Given the description of an element on the screen output the (x, y) to click on. 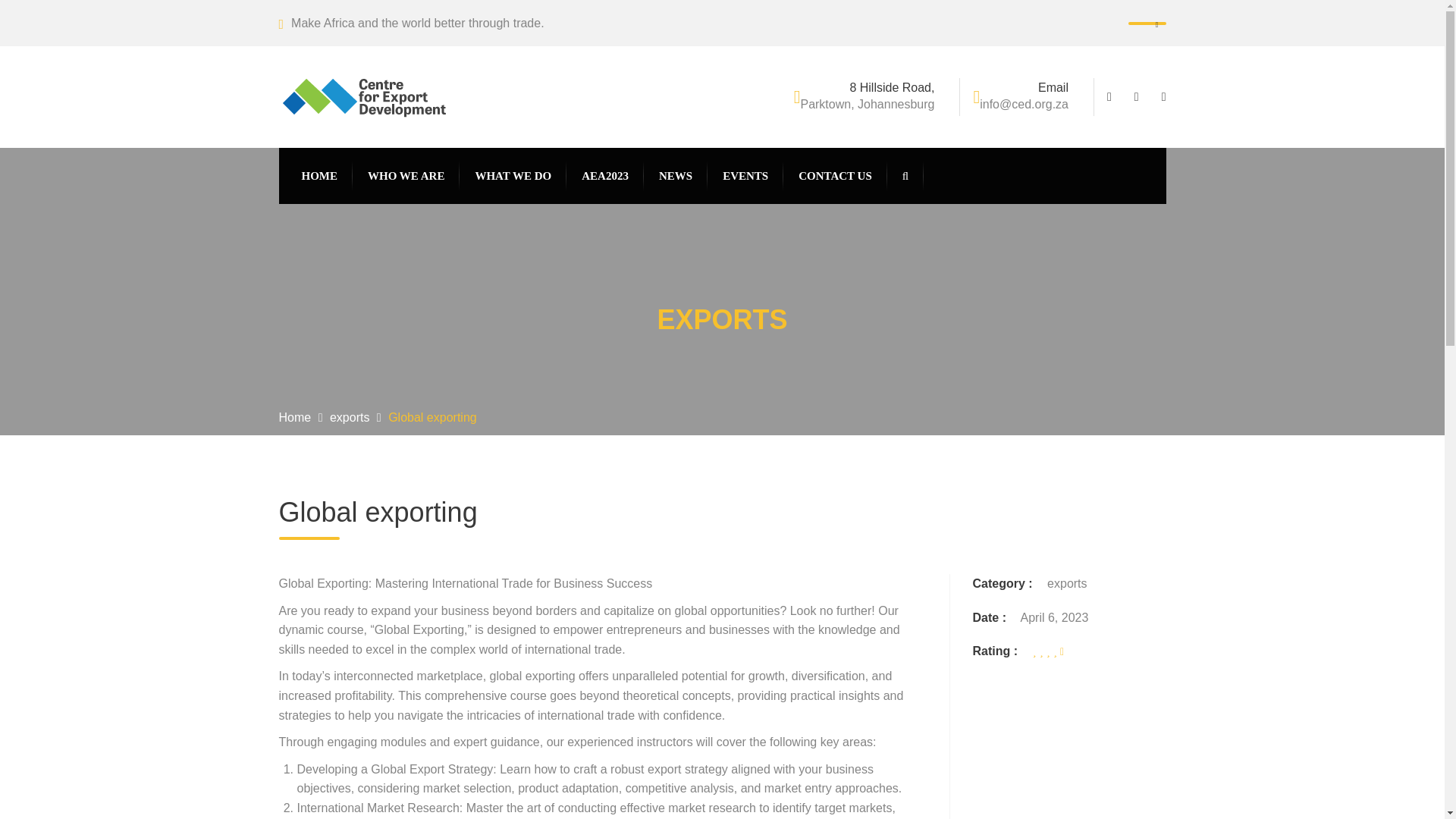
Attend (748, 274)
WHO WE ARE (406, 176)
Research (641, 274)
Award Categories (748, 355)
Sponsor (748, 314)
Our Philosophy Of Growth (534, 274)
Twitter (1140, 96)
Home (295, 417)
Nomination Form (748, 395)
CED Fellowship (641, 395)
Facebook (1116, 96)
Our Impact (534, 314)
HOME (319, 176)
CONTACT US (834, 176)
Market Intelligence (641, 314)
